Given the description of an element on the screen output the (x, y) to click on. 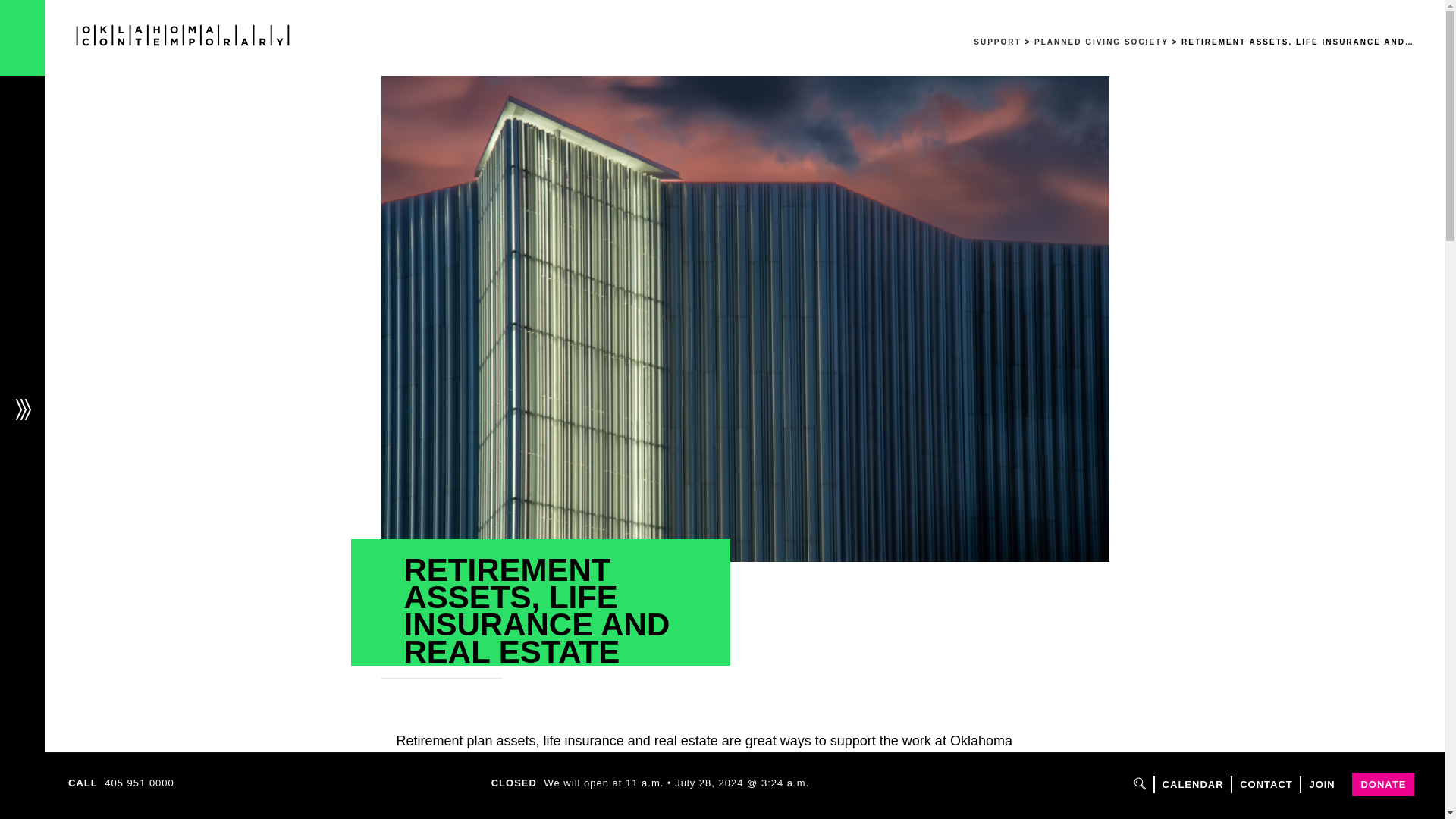
search (1139, 782)
Oklahoma Contemporary (182, 34)
